Given the description of an element on the screen output the (x, y) to click on. 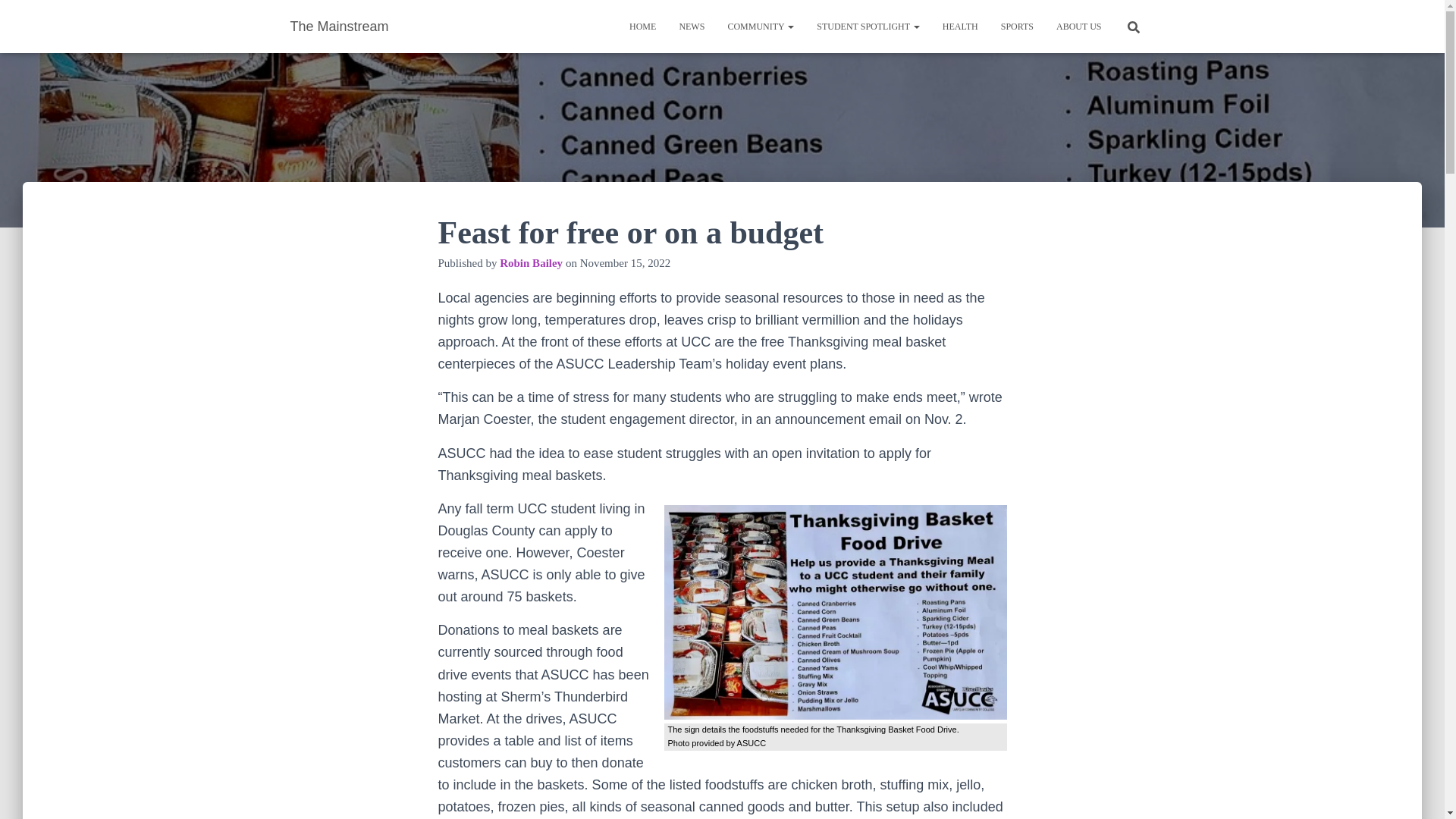
Sports (1017, 26)
Robin Bailey (530, 263)
Health (960, 26)
HEALTH (960, 26)
The Mainstream (339, 26)
News (691, 26)
HOME (641, 26)
Home (641, 26)
The Mainstream (339, 26)
COMMUNITY (760, 26)
